Given the description of an element on the screen output the (x, y) to click on. 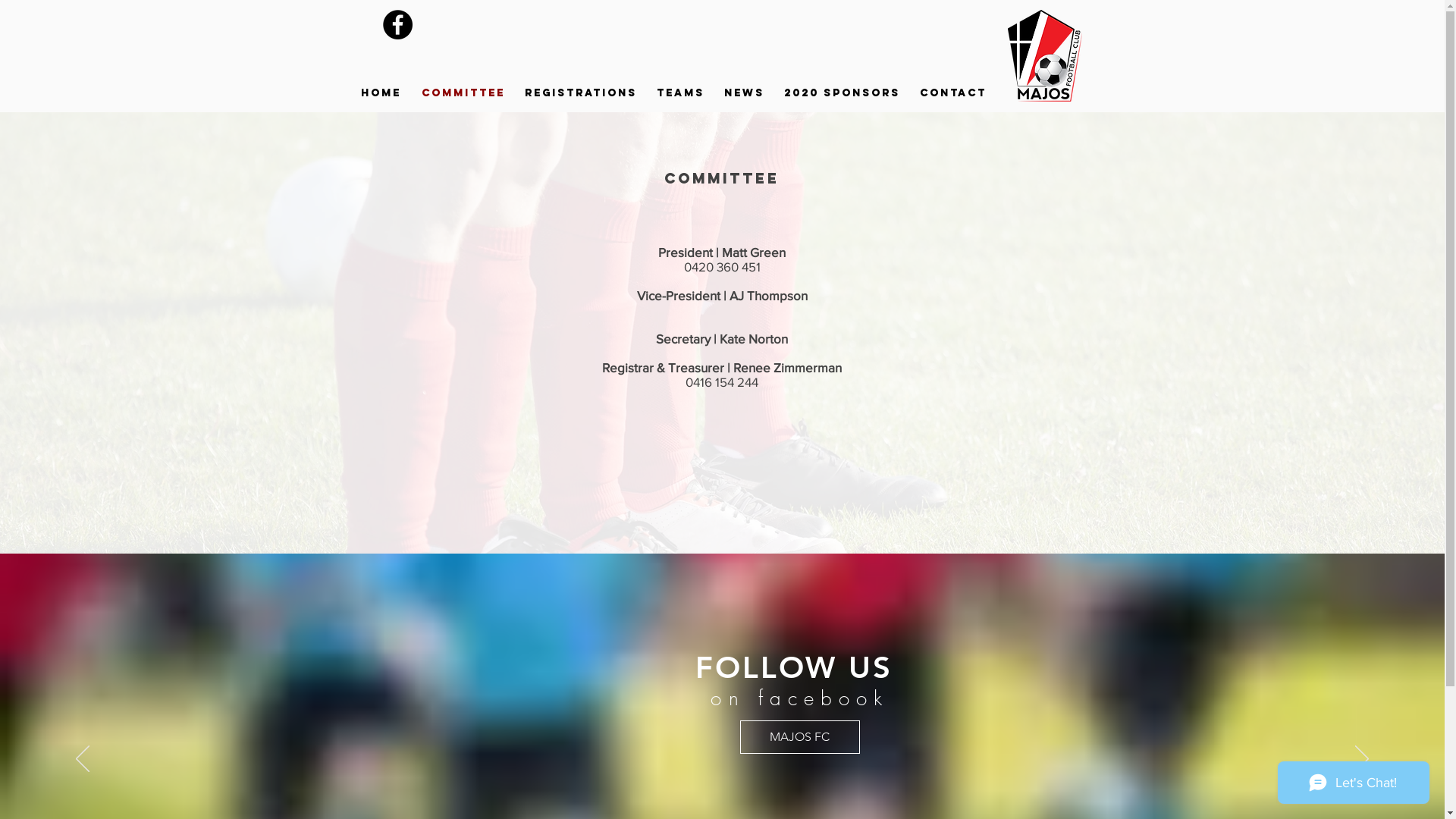
COMMITTEE Element type: text (462, 92)
Log In Element type: text (1013, 41)
MAJOS FC Element type: text (801, 736)
TEAMS Element type: text (679, 92)
CONTACT Element type: text (953, 92)
REGISTRATIONS Element type: text (580, 92)
NEWS Element type: text (744, 92)
HOME Element type: text (380, 92)
2020 SPONSORS Element type: text (841, 92)
